Given the description of an element on the screen output the (x, y) to click on. 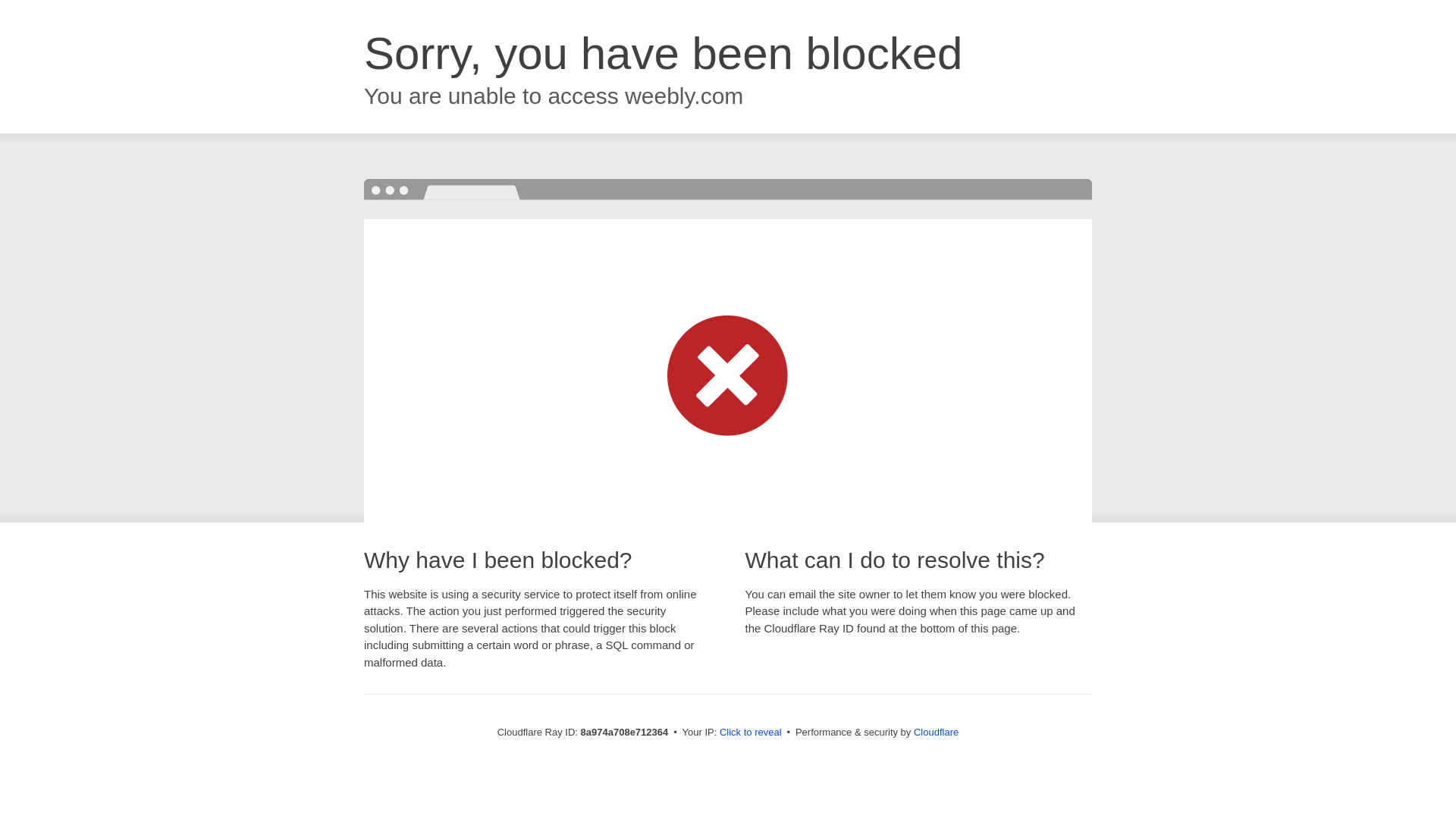
Click to reveal (750, 732)
Cloudflare (936, 731)
